Given the description of an element on the screen output the (x, y) to click on. 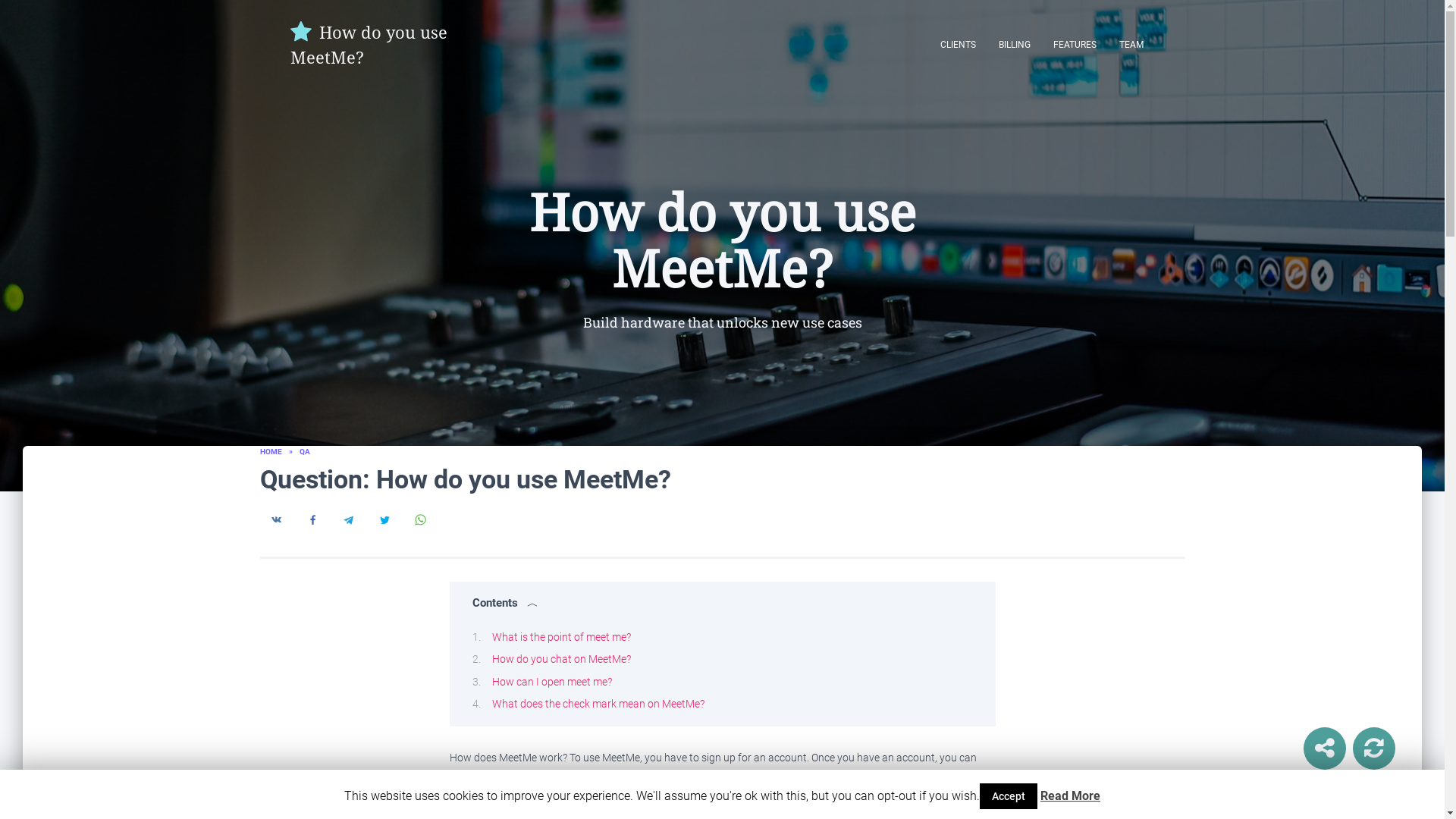
HOME (270, 451)
Features (1075, 44)
How do you use MeetMe? (379, 44)
FEATURES (1075, 44)
CLIENTS (957, 44)
Team (1130, 44)
Accept (1007, 795)
How can I open meet me? (551, 680)
Billing (1014, 44)
TEAM (1130, 44)
